Given the description of an element on the screen output the (x, y) to click on. 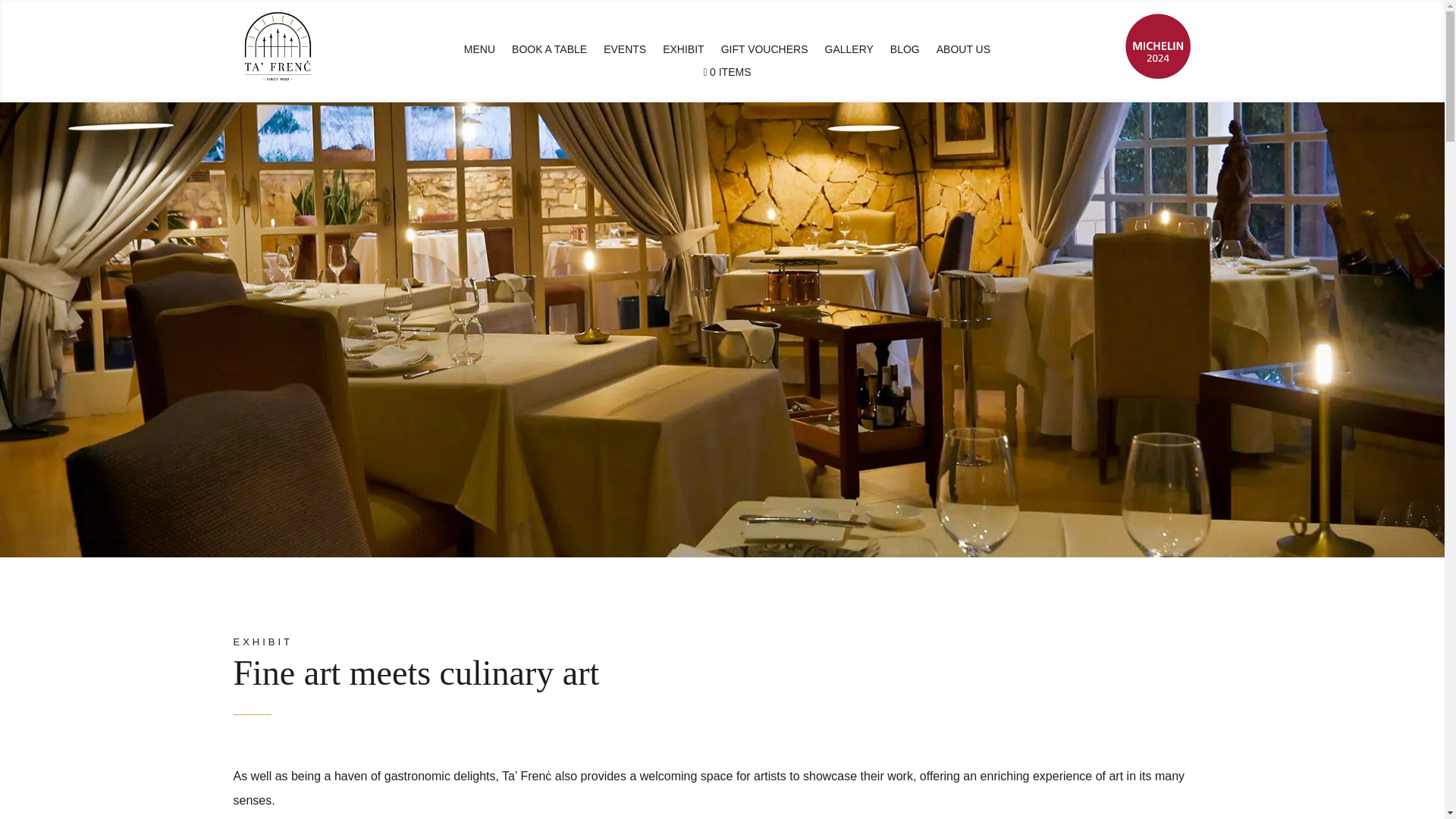
MICHELIN GUIDE (1158, 46)
Start shopping (727, 75)
MENU (479, 52)
ABOUT US (963, 52)
EVENTS (625, 52)
Ta' Frenc (277, 46)
EXHIBIT (682, 52)
GIFT VOUCHERS (764, 52)
BOOK A TABLE (549, 52)
GALLERY (849, 52)
BLOG (904, 52)
0 ITEMS (727, 75)
